Given the description of an element on the screen output the (x, y) to click on. 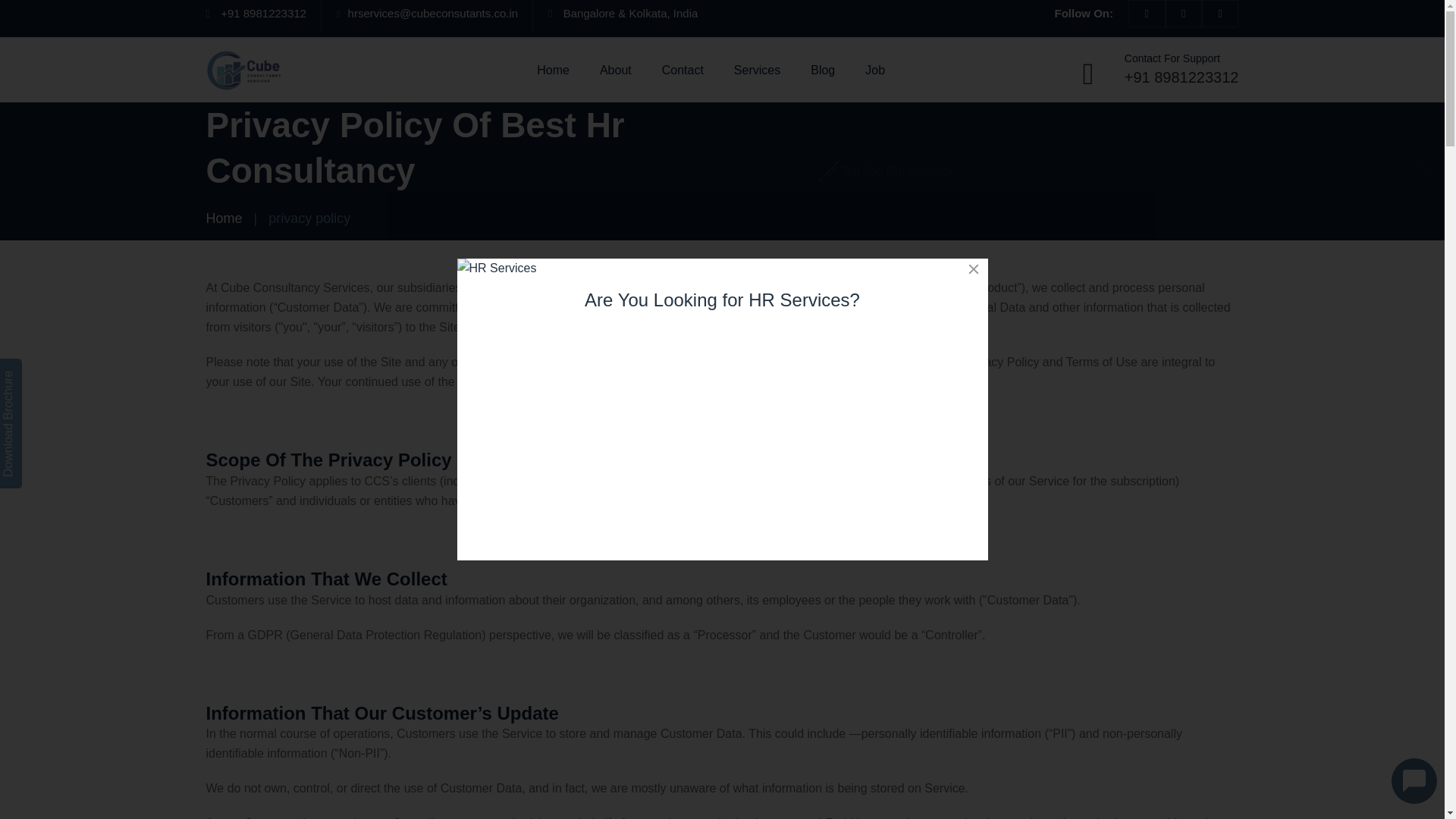
Contact (682, 69)
Blog (822, 69)
Services (756, 69)
About (615, 69)
Job (874, 69)
Home (553, 69)
Home (224, 218)
